Given the description of an element on the screen output the (x, y) to click on. 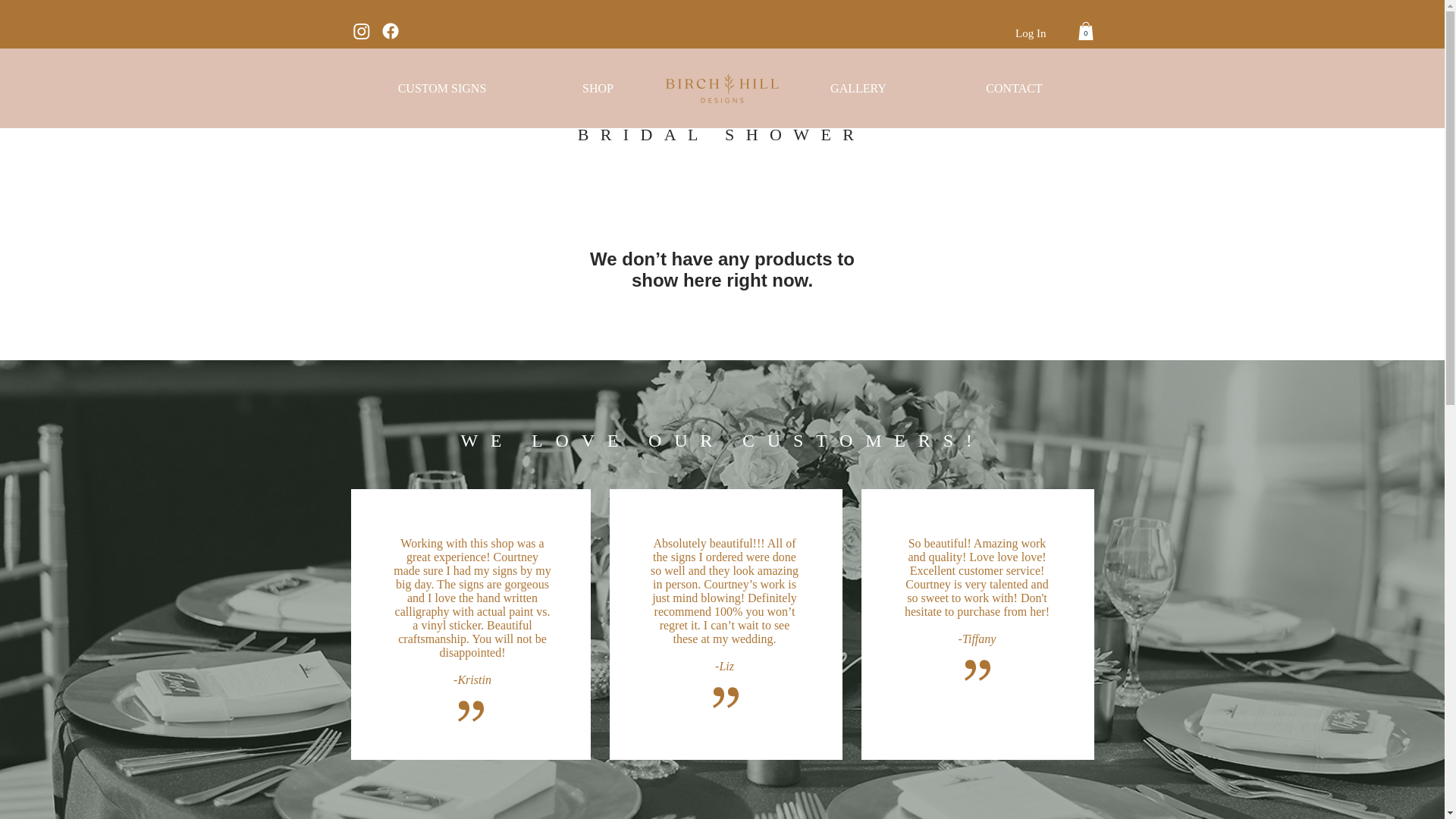
GALLERY (857, 88)
CONTACT (1014, 88)
0 (1085, 31)
0 (1085, 31)
SHOP (598, 88)
CUSTOM SIGNS (441, 88)
Log In (1030, 33)
